Given the description of an element on the screen output the (x, y) to click on. 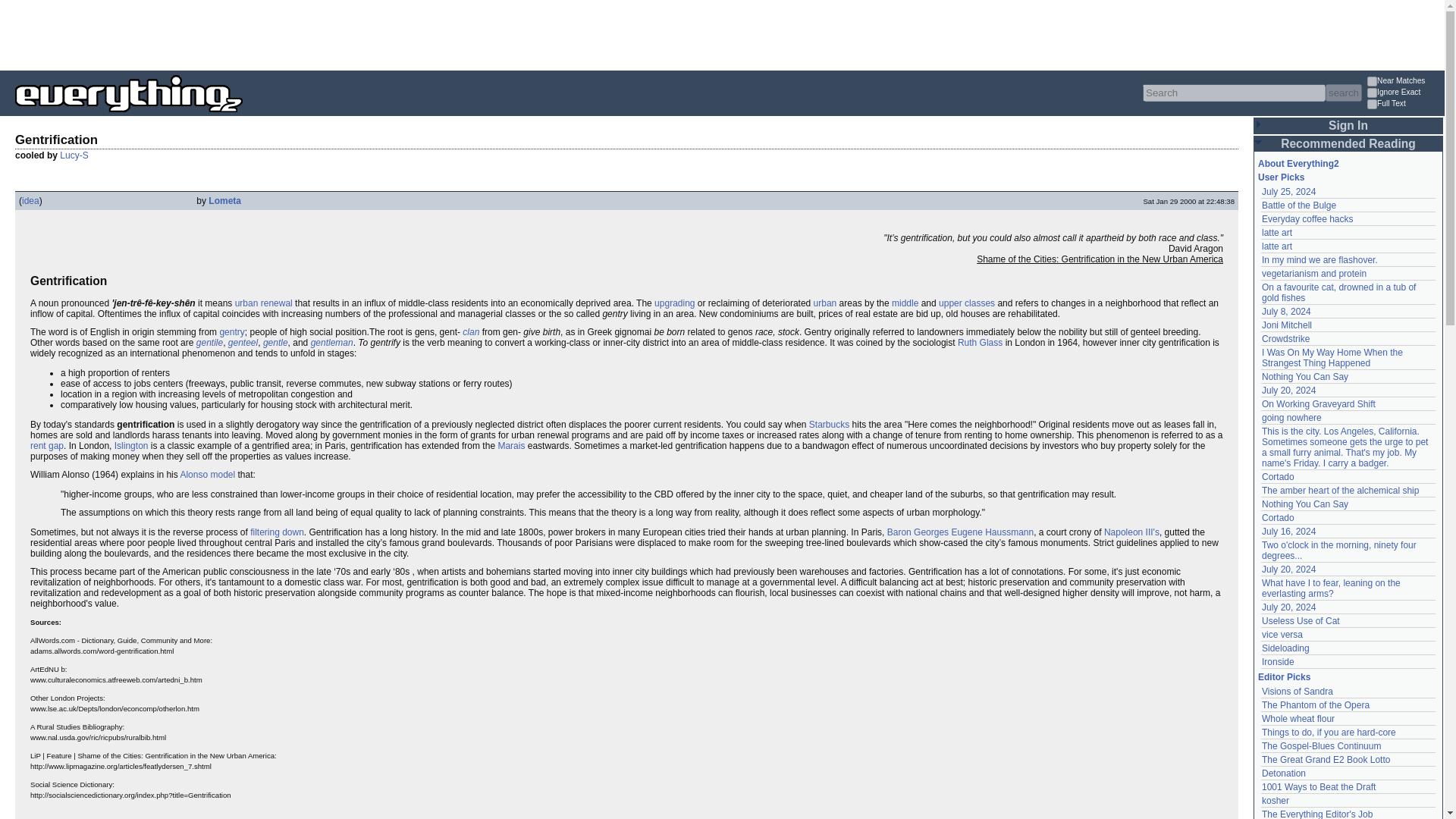
upgrading (673, 303)
gentry (231, 331)
genteel (242, 342)
search (1342, 92)
urban (825, 303)
Ruth Glass (980, 342)
1 (1372, 103)
gentle (275, 342)
middle (904, 303)
urban renewal (263, 303)
gentle (275, 342)
middle class (904, 303)
Islington (131, 445)
gentleman (332, 342)
search (1342, 92)
